Given the description of an element on the screen output the (x, y) to click on. 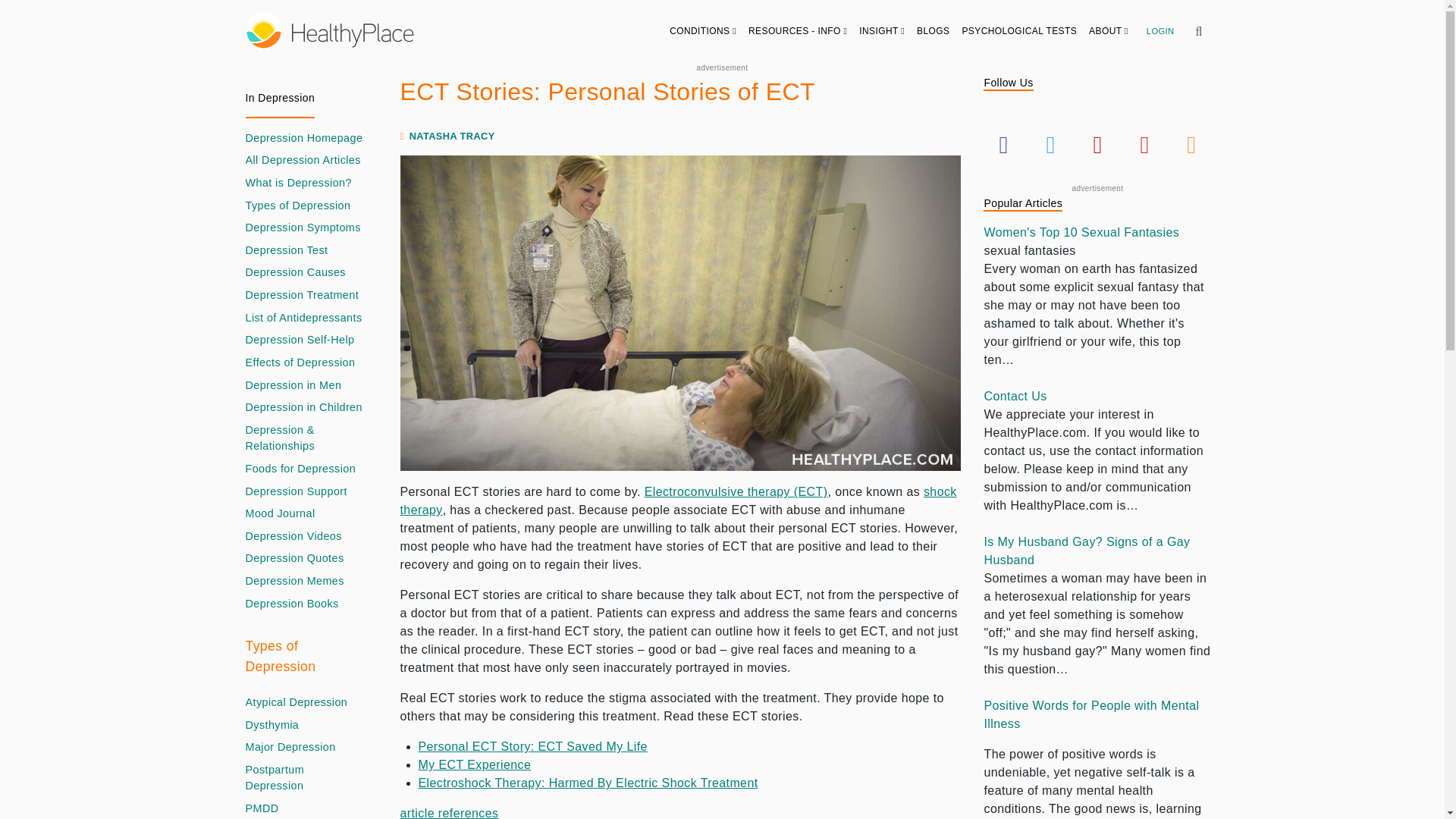
List of All Depression Information Articles on HealthyPlace (303, 160)
Depression Quotes and Sayings About Depression (294, 558)
What Are the Symptoms of Depression? (303, 228)
Self-Help for Depression: What Helps? (300, 340)
Helpful Depression Books (292, 604)
CONDITIONS (702, 31)
Take a Depression Test (287, 250)
What Causes Depression? (296, 272)
How Depression Affects Relationships: The Good and the Bad (305, 438)
INSIGHT (882, 31)
RESOURCES - INFO (797, 31)
Depression Support: Why You Need It, Where to Find It (296, 492)
Depression in Men: Understanding Male Depression (294, 385)
